Given the description of an element on the screen output the (x, y) to click on. 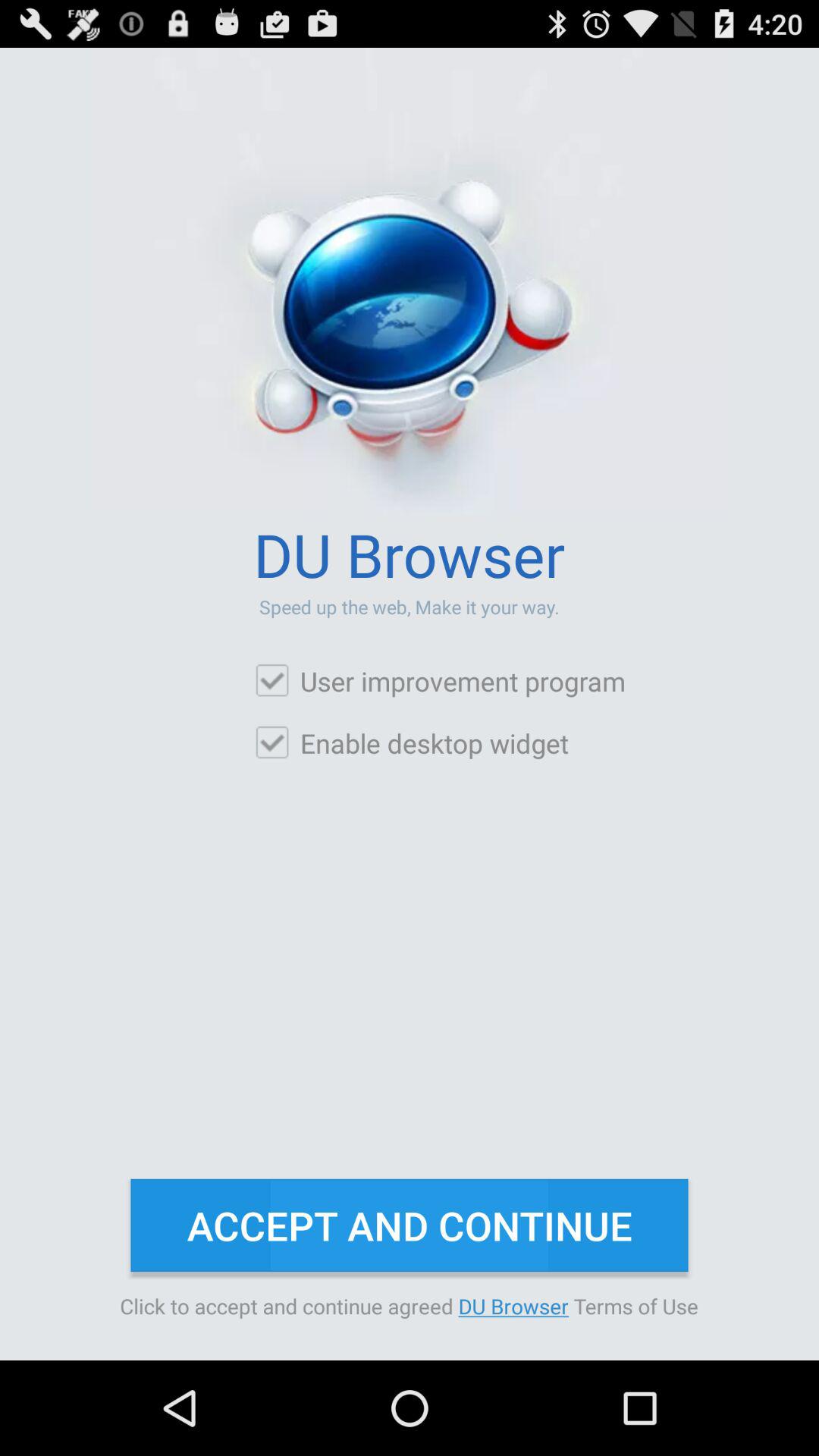
choose the checkbox below user improvement program checkbox (410, 742)
